Given the description of an element on the screen output the (x, y) to click on. 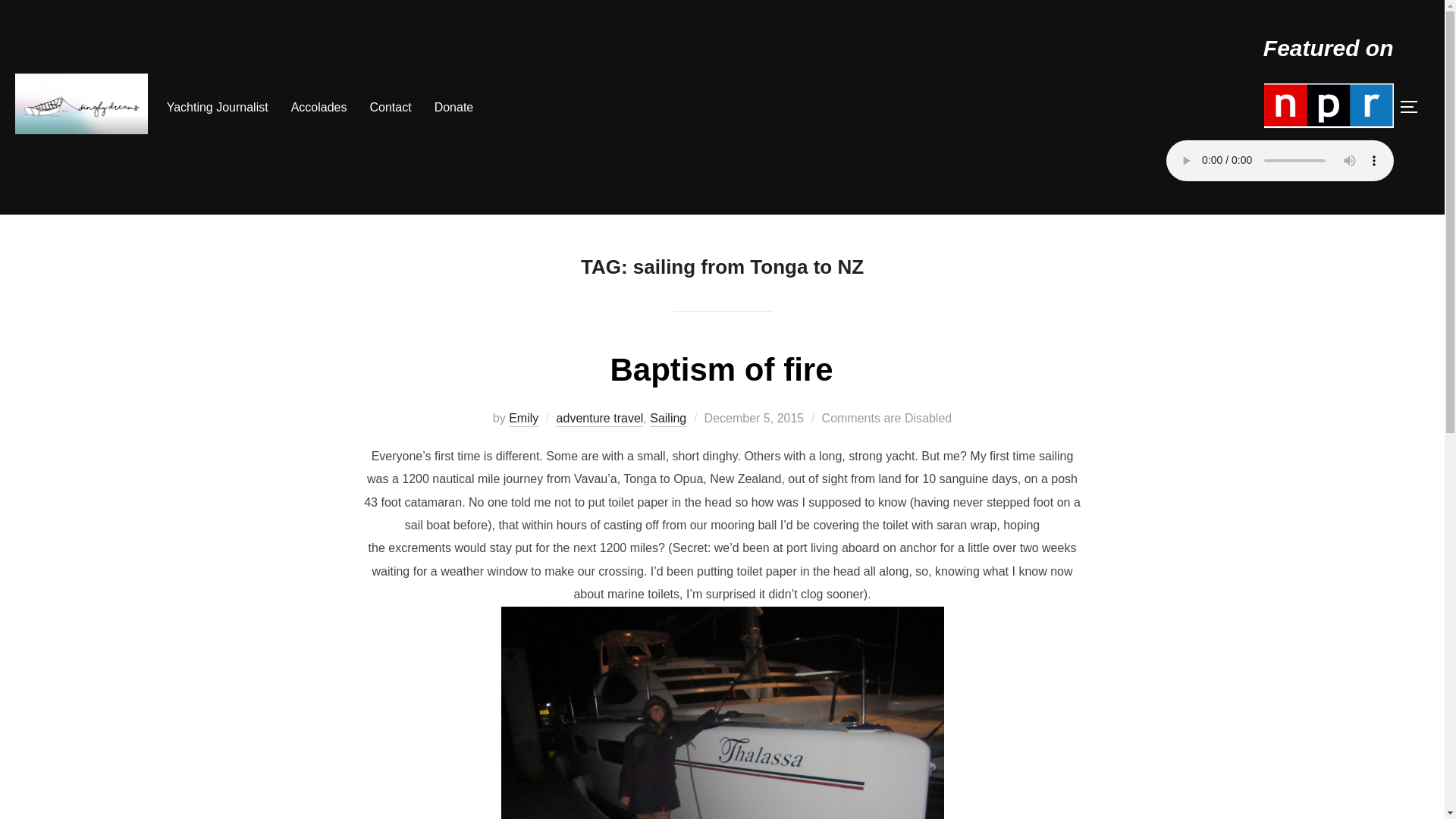
Yachting Journalist (217, 107)
Accolades (319, 107)
Donate (453, 107)
Contact (390, 107)
